Given the description of an element on the screen output the (x, y) to click on. 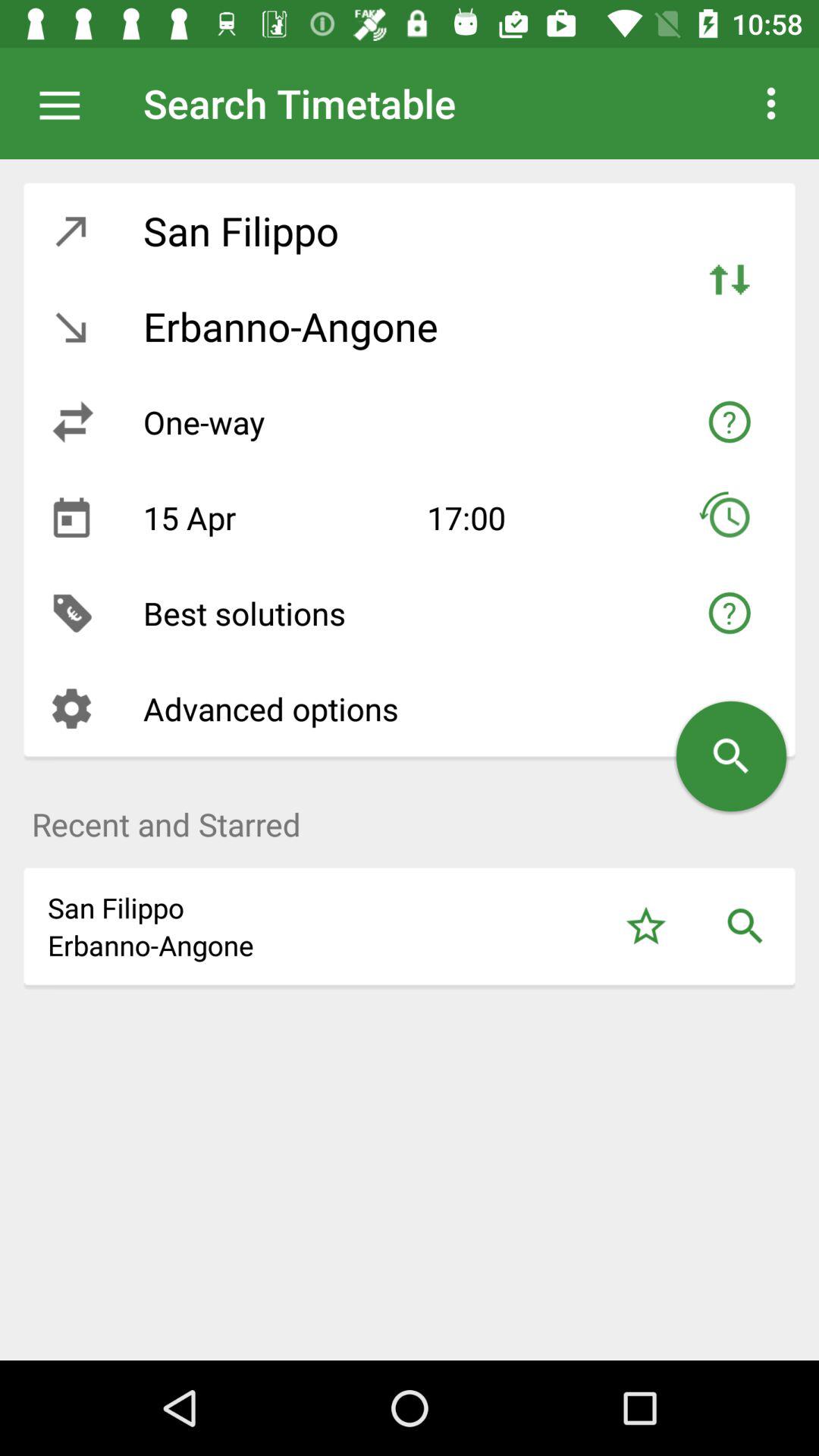
starred option (645, 926)
